Given the description of an element on the screen output the (x, y) to click on. 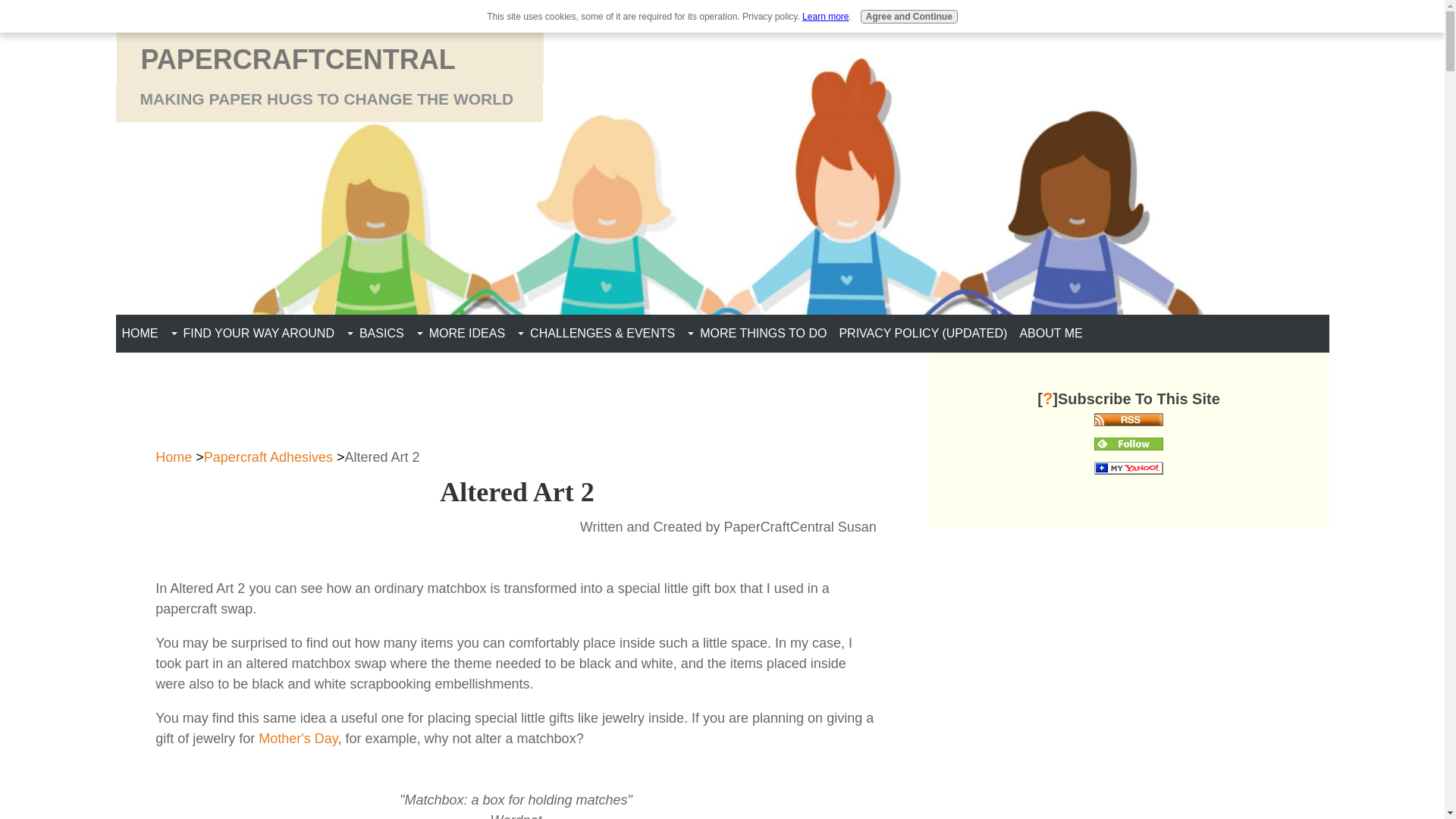
ABOUT ME (1050, 333)
Papercraft Adhesives (268, 457)
Home (173, 457)
PAPERCRAFTCENTRAL (298, 59)
HOME (139, 333)
Mother's Day (298, 738)
